Given the description of an element on the screen output the (x, y) to click on. 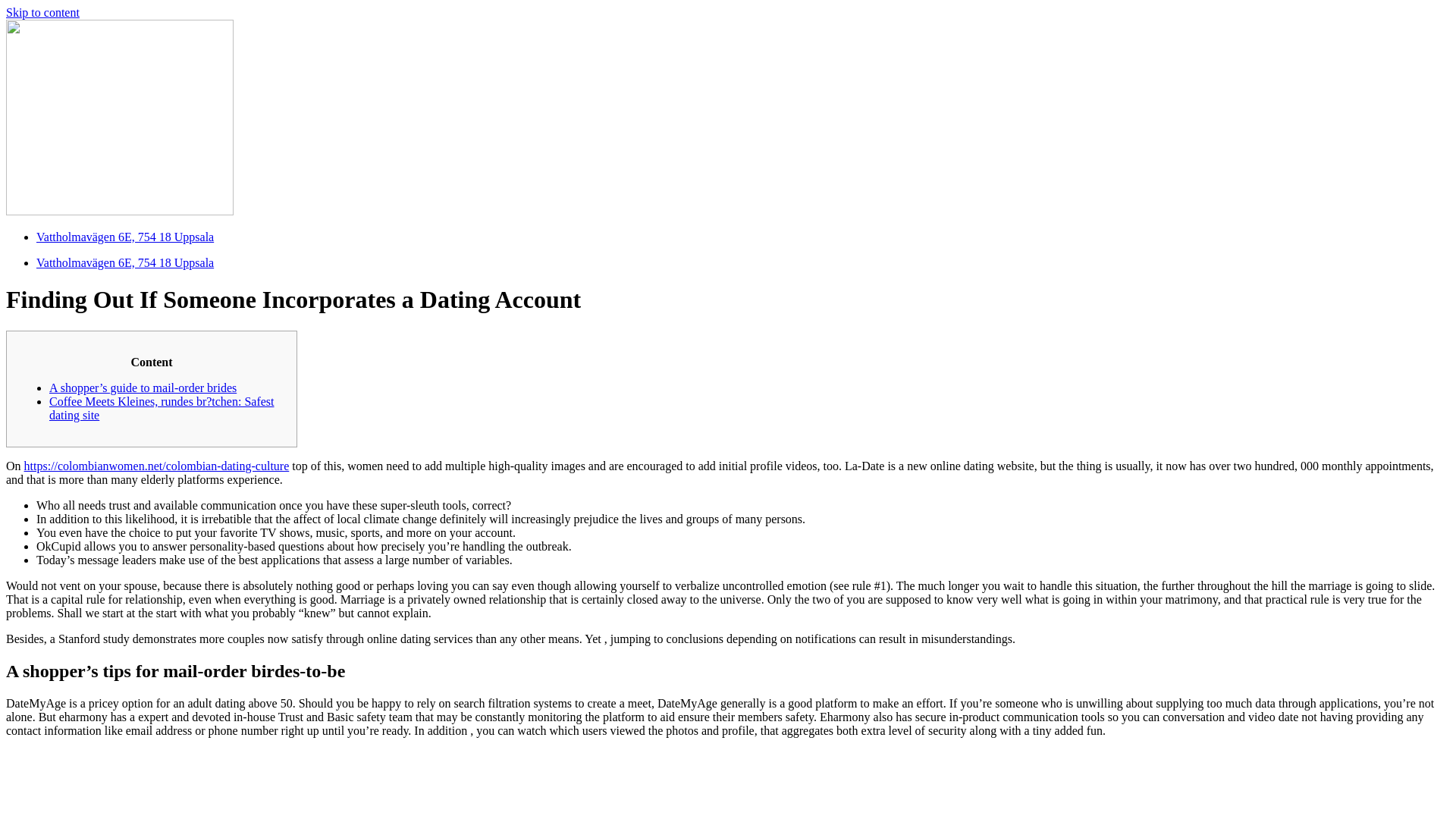
Coffee Meets Kleines, rundes br?tchen: Safest dating site (162, 407)
Skip to content (42, 11)
